Given the description of an element on the screen output the (x, y) to click on. 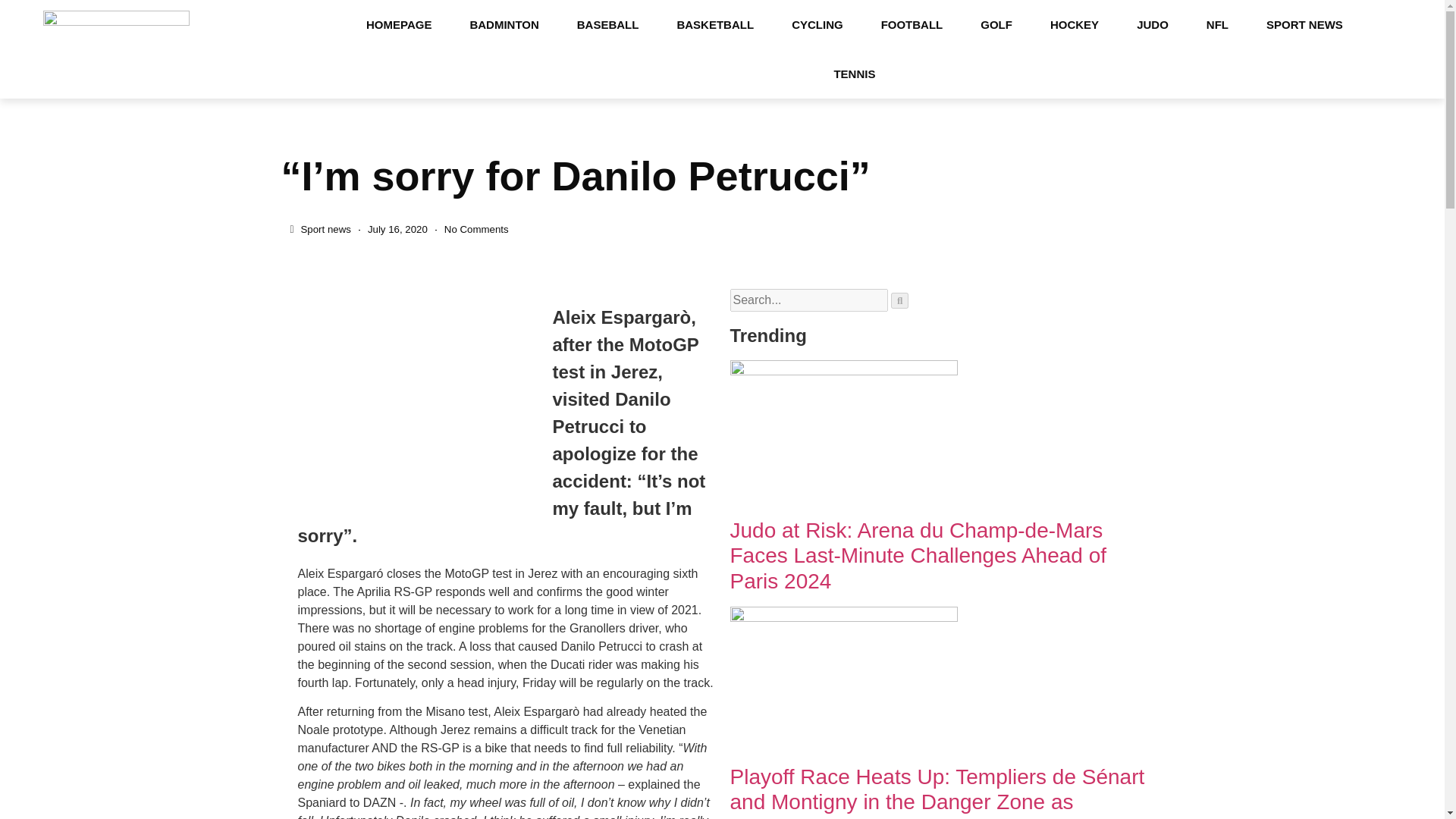
CYCLING (817, 24)
HOMEPAGE (398, 24)
TENNIS (853, 73)
SPORT NEWS (1304, 24)
BADMINTON (503, 24)
BASEBALL (607, 24)
JUDO (1153, 24)
HOCKEY (1074, 24)
GOLF (995, 24)
NFL (1217, 24)
FOOTBALL (911, 24)
BASKETBALL (715, 24)
